Given the description of an element on the screen output the (x, y) to click on. 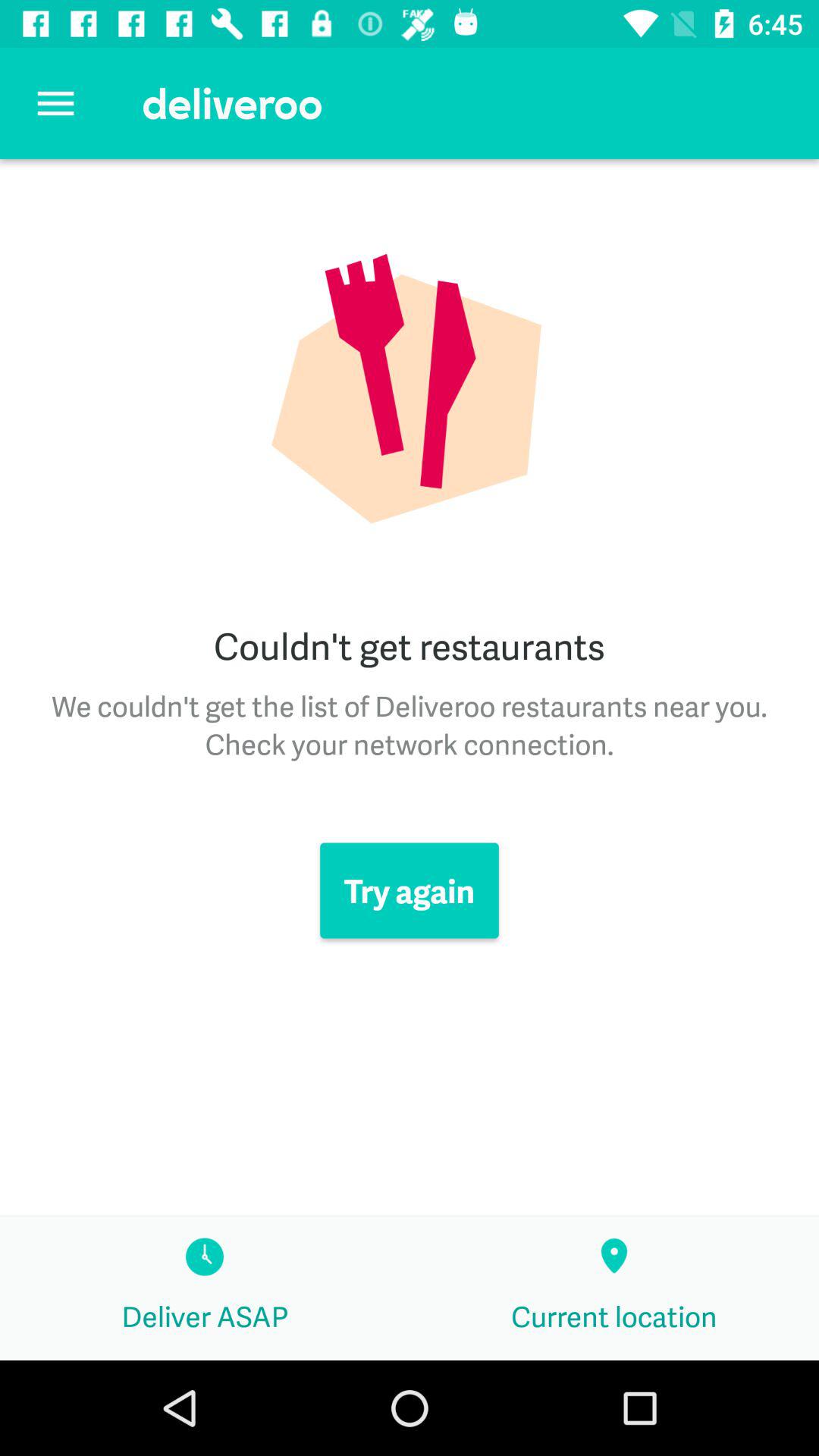
choose icon next to current location item (204, 1288)
